Given the description of an element on the screen output the (x, y) to click on. 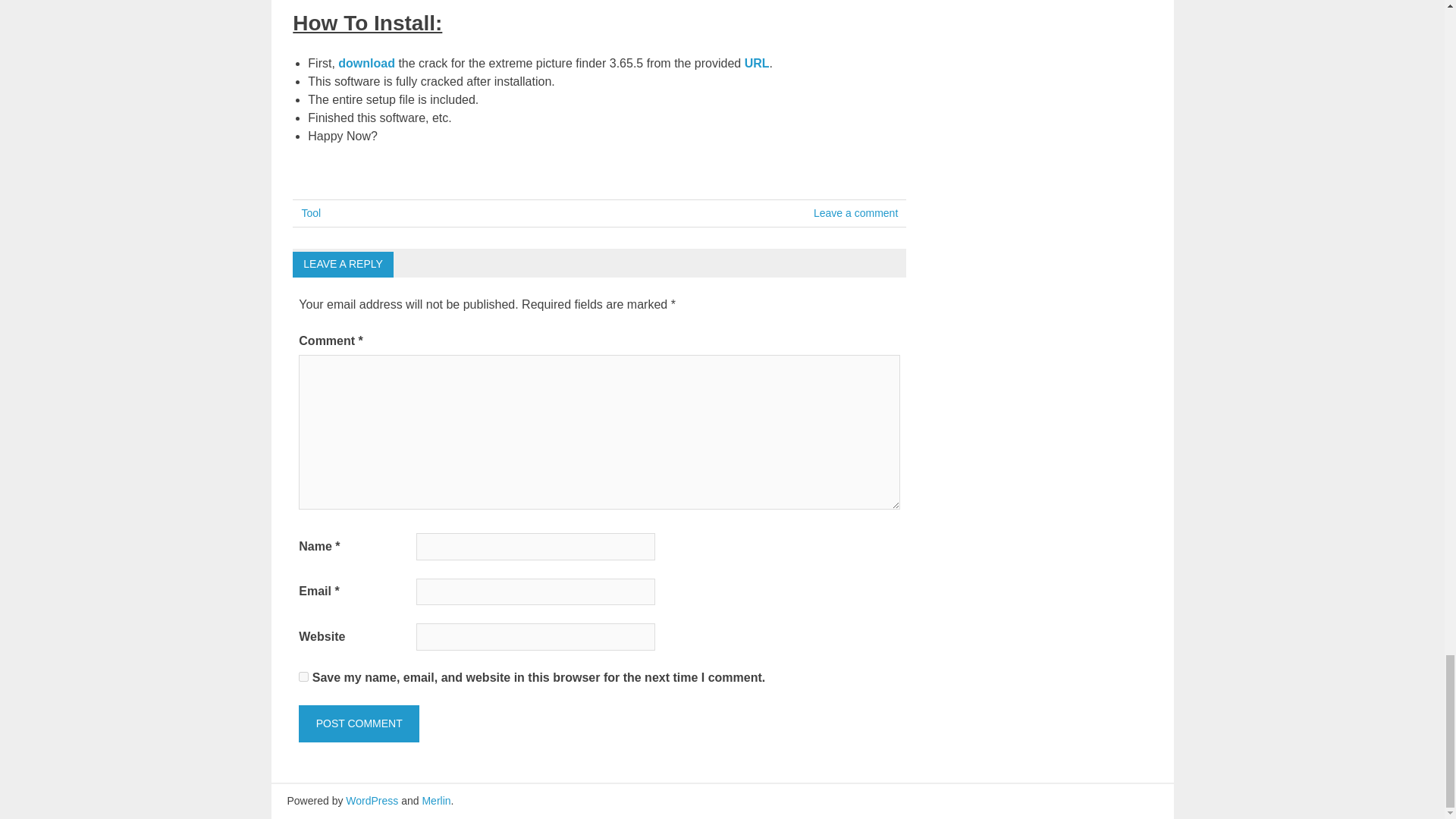
Leave a comment (855, 213)
Merlin WordPress Theme (435, 800)
Post Comment (358, 723)
yes (303, 676)
WordPress (371, 800)
Post Comment (358, 723)
download (365, 62)
Tool (310, 213)
URL (757, 62)
